Given the description of an element on the screen output the (x, y) to click on. 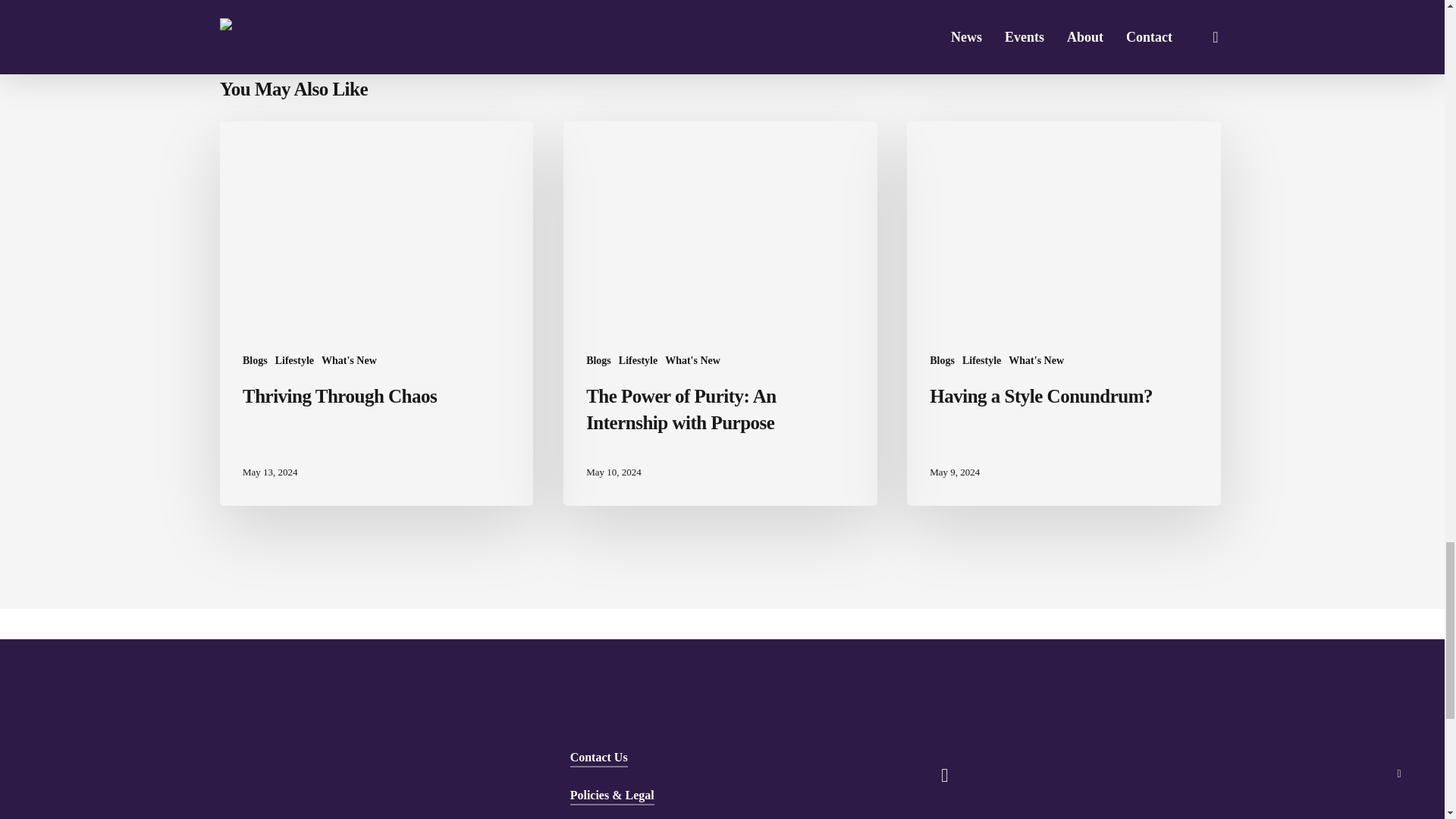
What's New (692, 360)
Blogs (942, 360)
What's New (349, 360)
Blogs (255, 360)
Blogs (598, 360)
Lifestyle (638, 360)
Lifestyle (294, 360)
What's New (1036, 360)
Lifestyle (981, 360)
